Given the description of an element on the screen output the (x, y) to click on. 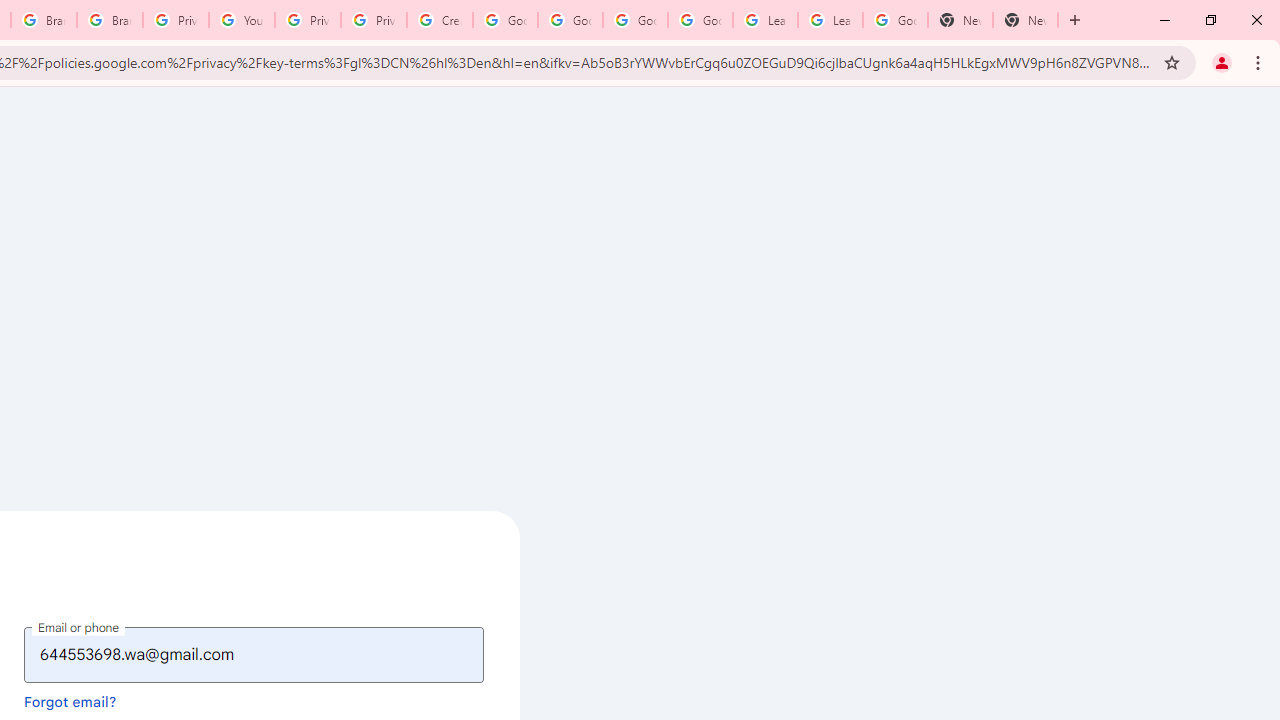
New Tab (960, 20)
Google Account Help (504, 20)
Google Account Help (635, 20)
Google Account Help (700, 20)
Create your Google Account (440, 20)
Brand Resource Center (43, 20)
Google Account (894, 20)
YouTube (241, 20)
Google Account Help (569, 20)
